Given the description of an element on the screen output the (x, y) to click on. 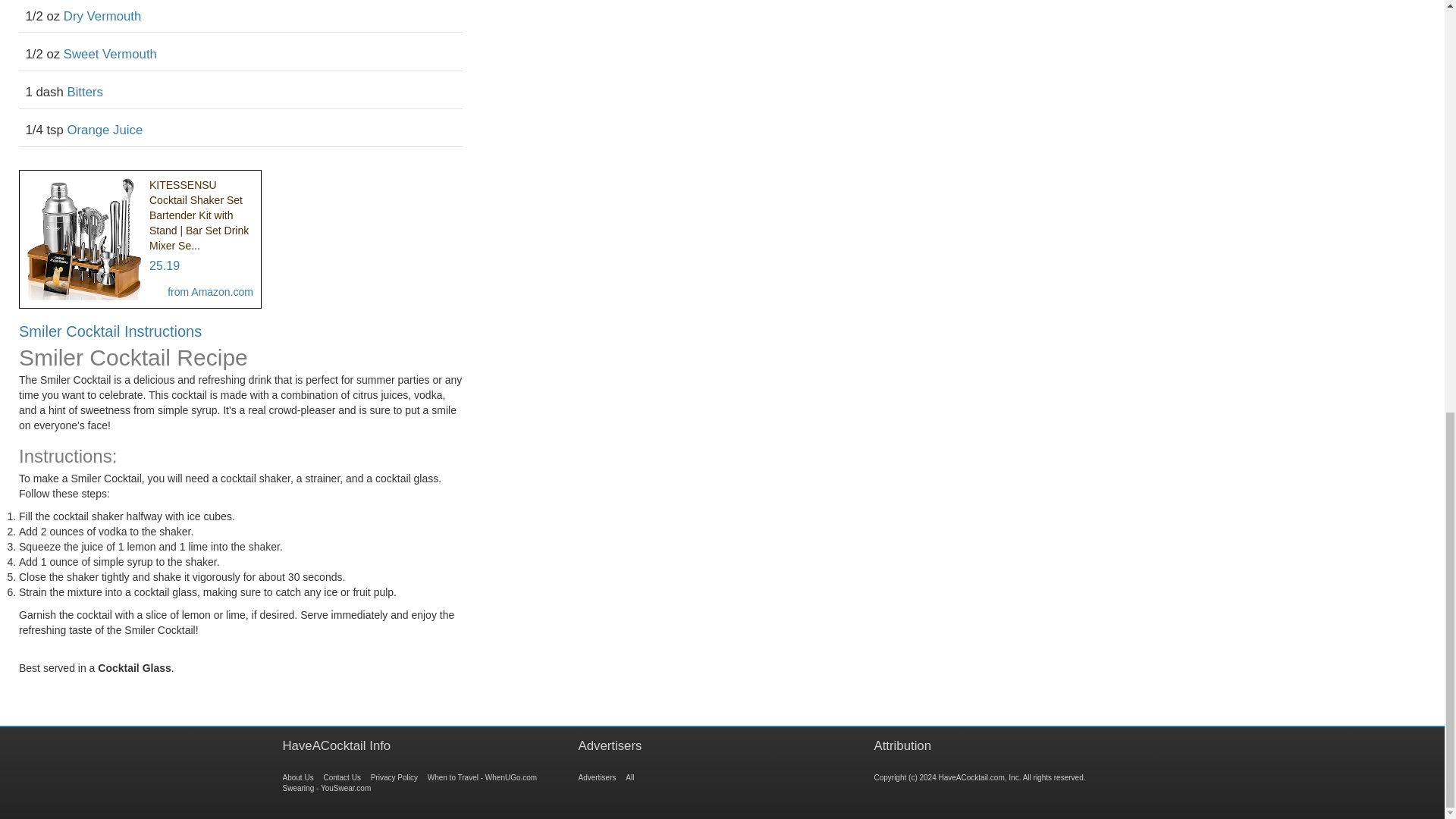
Contact Us (341, 777)
When to Travel (482, 777)
Swearing (326, 787)
Advertisers (596, 777)
Browse Cocktail Recipes (297, 777)
Drinking Games (629, 777)
Browse Ingredients (394, 777)
